Given the description of an element on the screen output the (x, y) to click on. 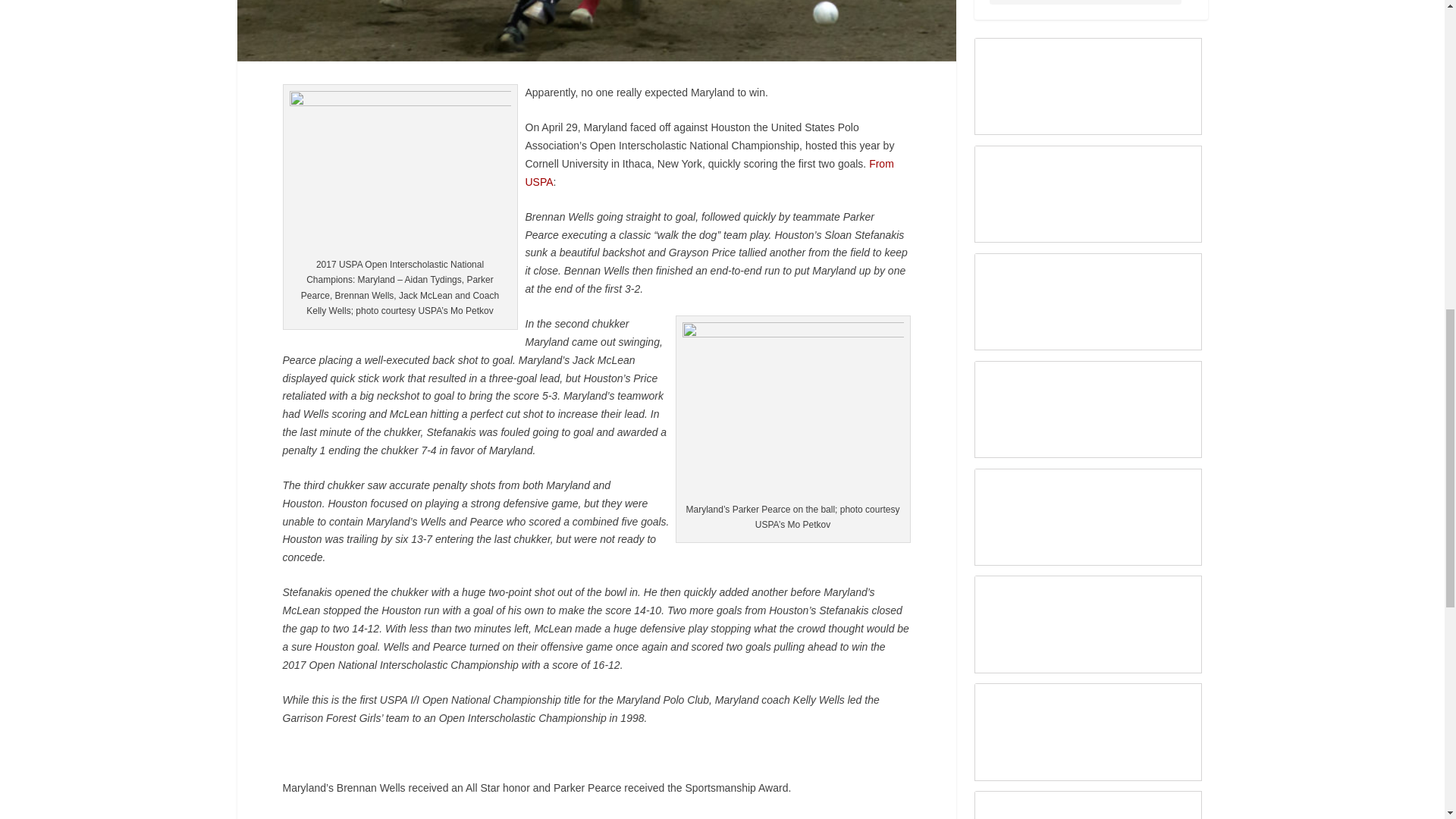
From USPA (708, 173)
